Given the description of an element on the screen output the (x, y) to click on. 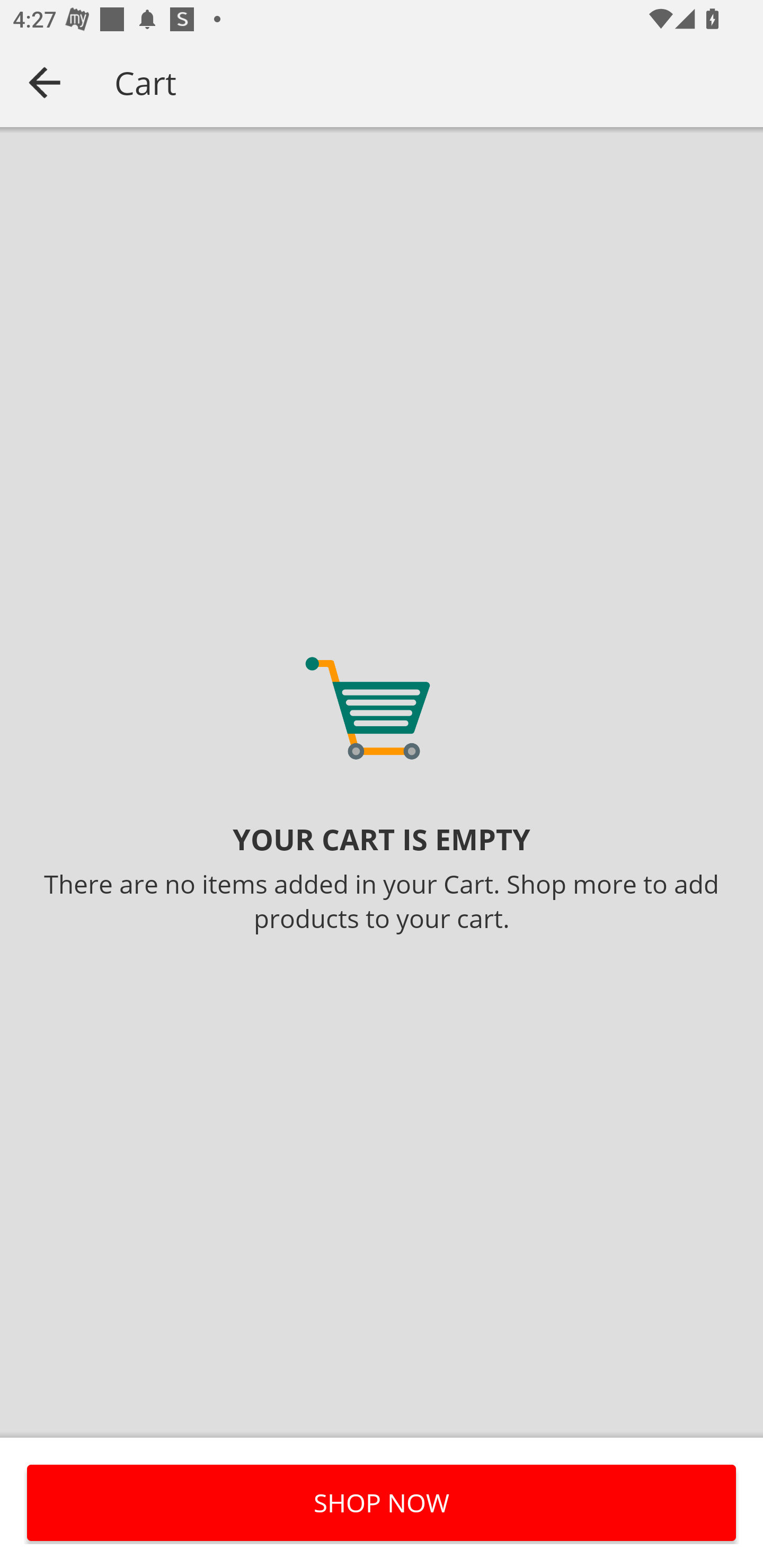
Navigate up (44, 82)
SHOP NOW (381, 1502)
